Given the description of an element on the screen output the (x, y) to click on. 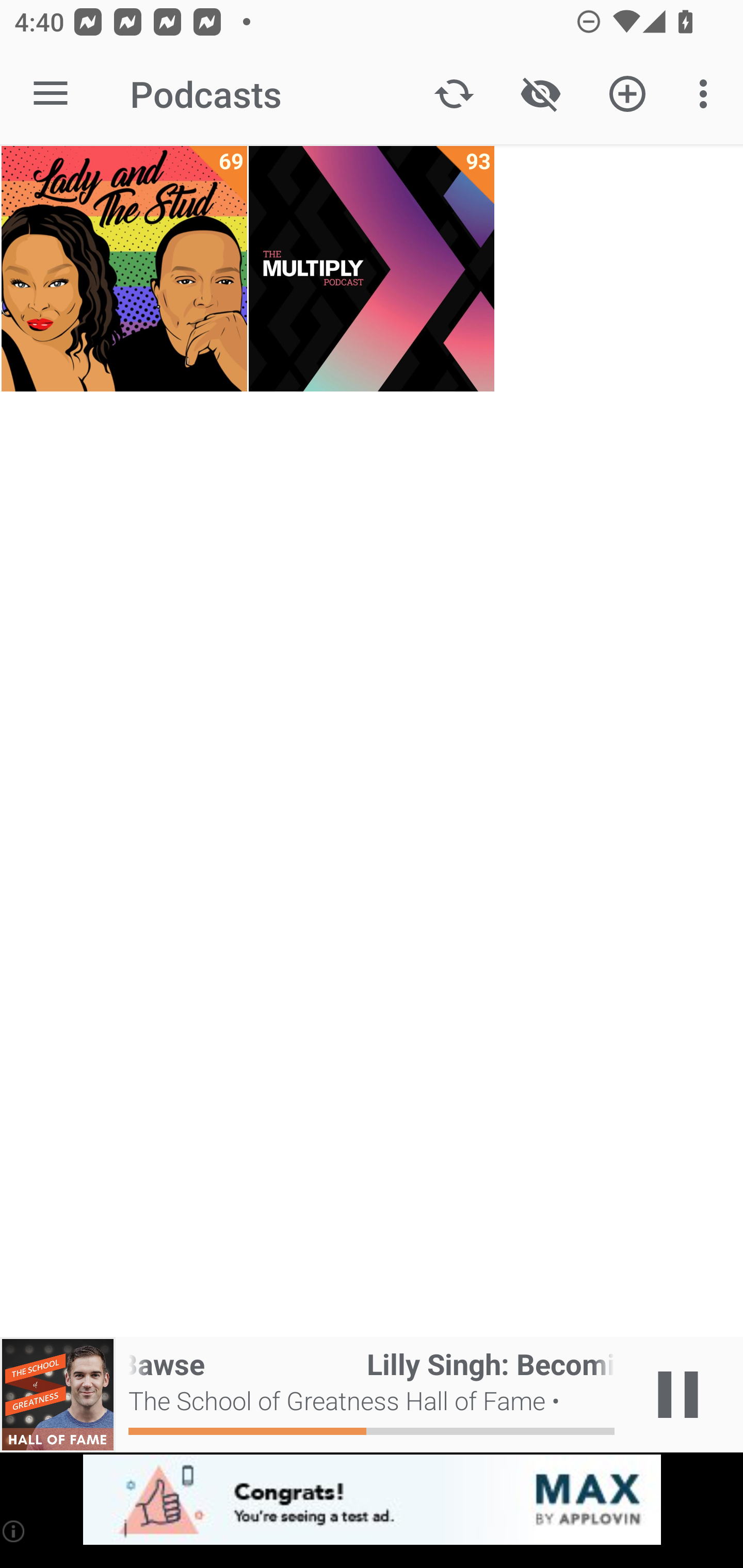
Open navigation sidebar (50, 93)
Update (453, 93)
Show / Hide played content (540, 93)
Add new Podcast (626, 93)
More options (706, 93)
Lady and The Stud 69 (124, 268)
The Multiply Podcast 93 (371, 268)
Play / Pause (677, 1394)
app-monetization (371, 1500)
(i) (14, 1531)
